Given the description of an element on the screen output the (x, y) to click on. 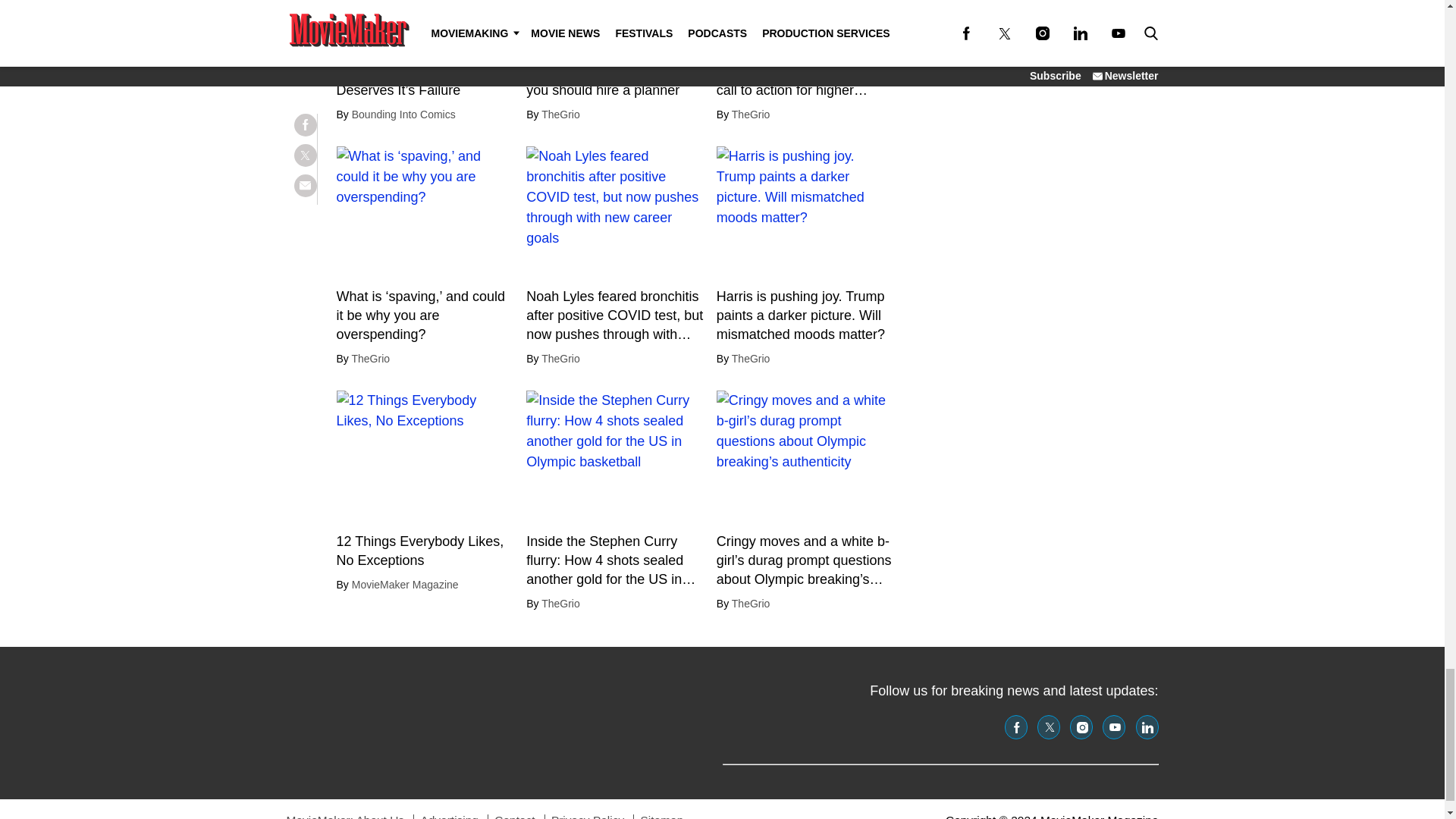
Contact MovieMaker Magazine (514, 816)
MovieMaker Magazine Privacy Policy (587, 816)
Connect with us on LinkedIn (1146, 726)
Subscribe to our YouTube channel (1113, 726)
Advertising (449, 816)
Follow us on Twitter (1047, 726)
MovieMaker: About Us (345, 816)
Follow us on Facebook (1015, 726)
Follow us on Instagram (1081, 726)
